Given the description of an element on the screen output the (x, y) to click on. 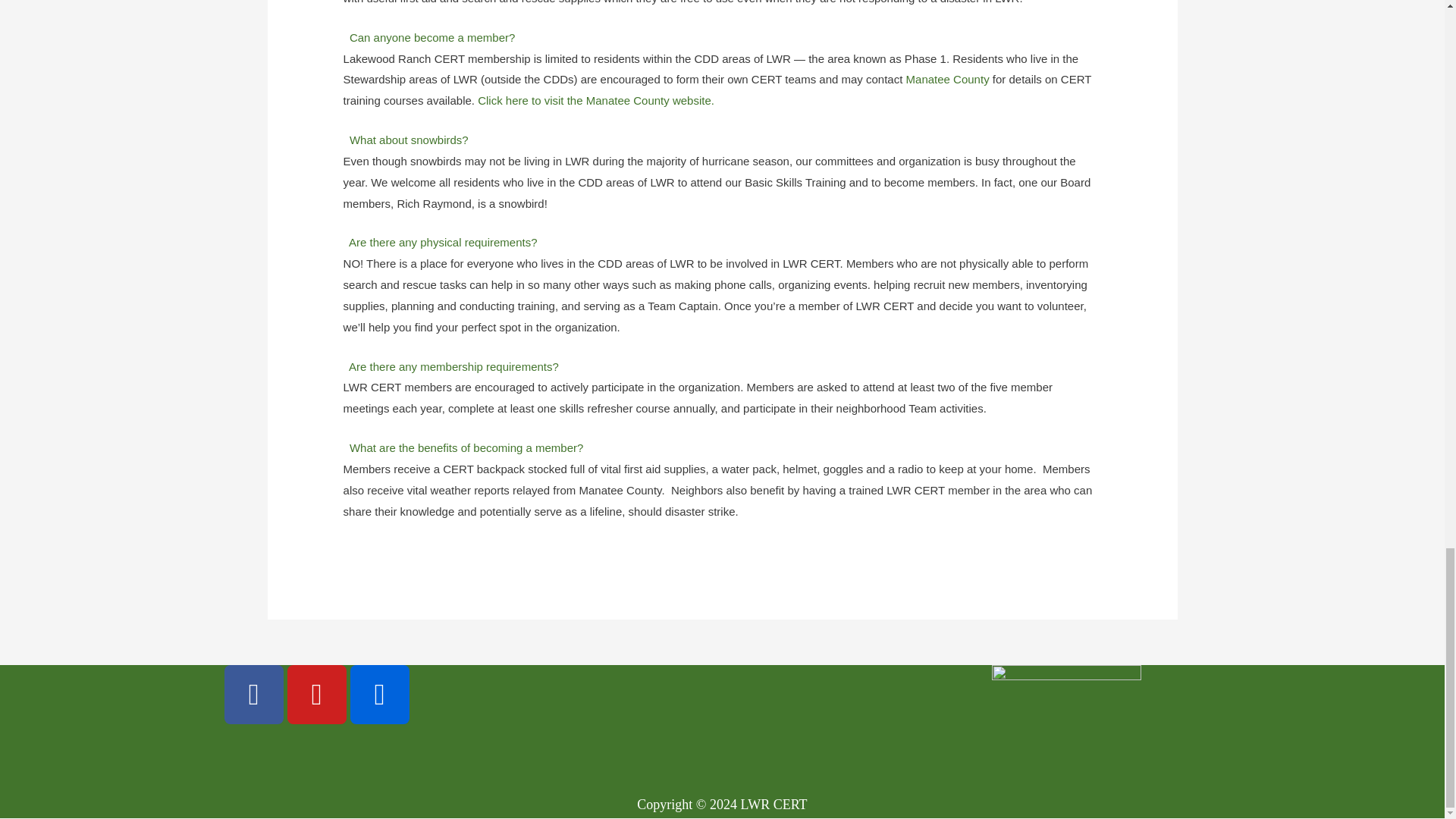
Flickr (379, 694)
Click here to visit the Manatee County website. (595, 100)
Can anyone become a member? (432, 37)
Are there any membership requirements? (454, 366)
Youtube (316, 694)
Manatee County (947, 78)
What about snowbirds? (408, 139)
Facebook (253, 694)
What are the benefits of becoming a member? (466, 447)
Are there any physical requirements? (443, 241)
